Given the description of an element on the screen output the (x, y) to click on. 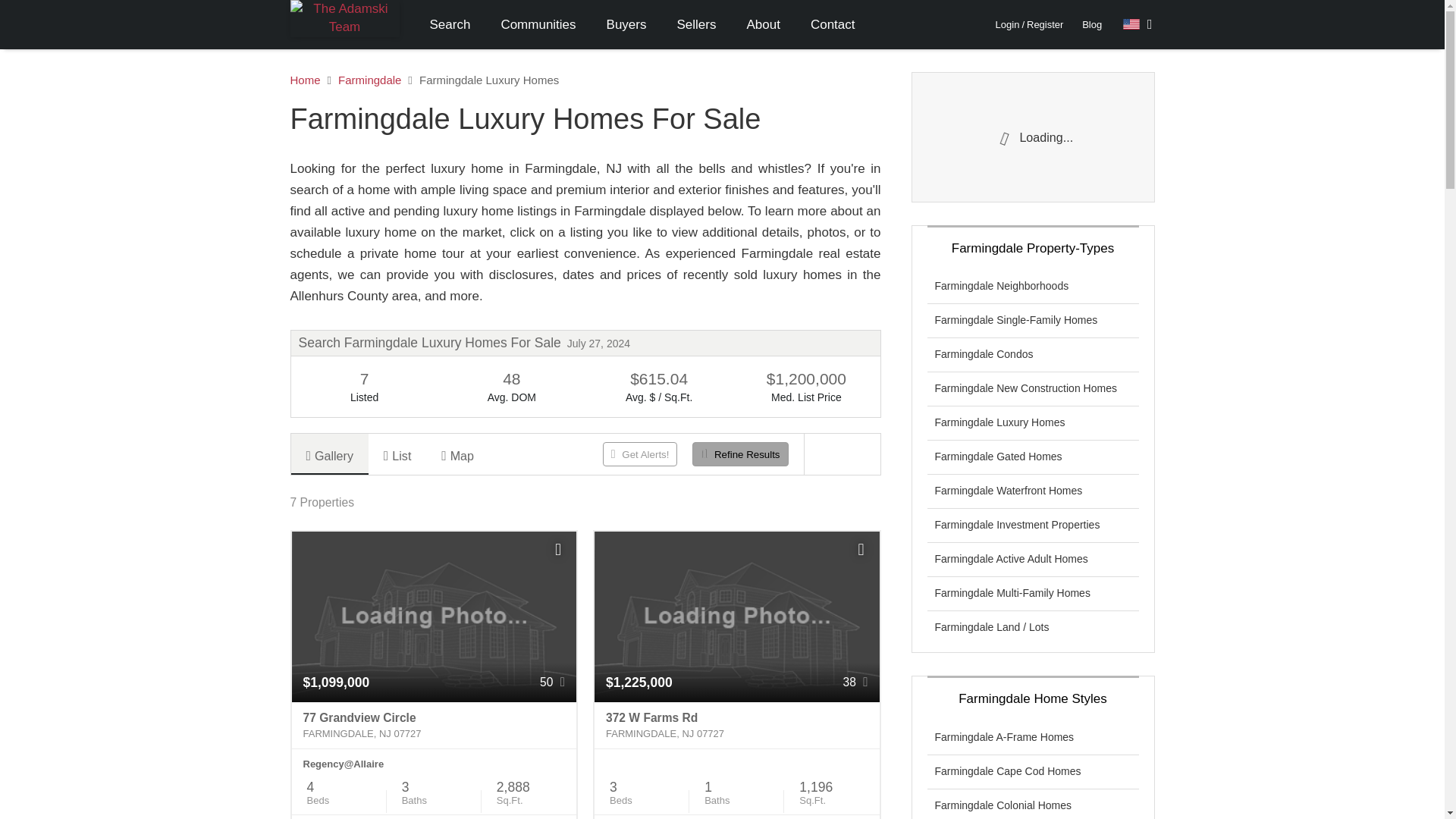
Communities (537, 24)
Register (1044, 24)
372 W Farms Rd Farmingdale,  NJ 07727 (736, 725)
Blog (1091, 24)
About (762, 24)
Sellers (695, 24)
Buyers (626, 24)
Select Language (1137, 24)
Search (448, 24)
77 Grandview Circle Farmingdale,  NJ 07727 (433, 725)
Contact (832, 24)
